Given the description of an element on the screen output the (x, y) to click on. 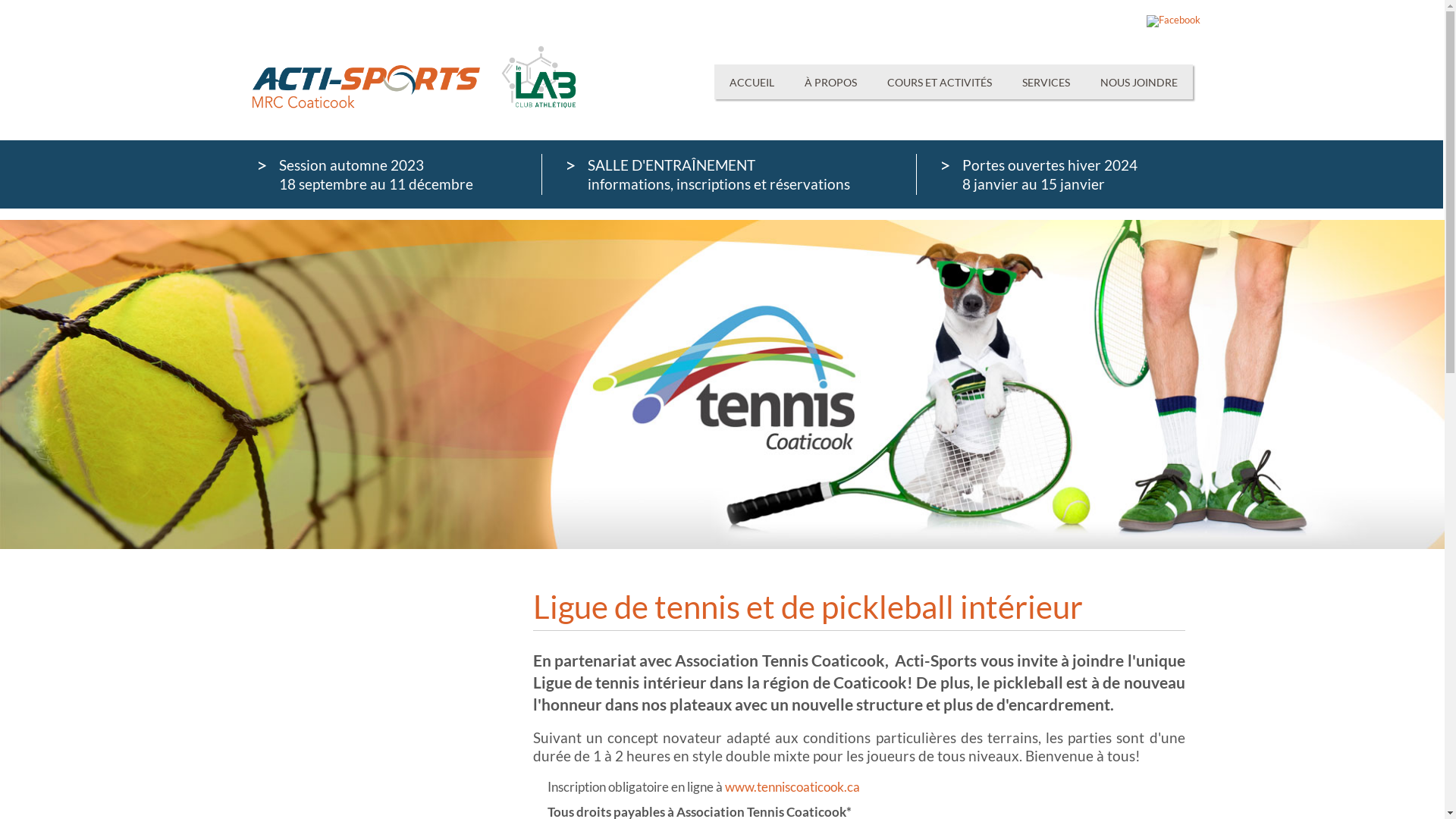
ACCUEIL Element type: text (751, 82)
Cours pour enfants et ados Element type: text (341, 705)
Inscription en ligne Element type: text (320, 807)
NOUS JOINDRE Element type: text (1138, 82)
Cours en piscine Element type: text (314, 725)
Aussi dans nos plateaux Element type: text (333, 766)
Portes ouvertes hiver 2024
8 janvier au 15 janvier Element type: text (1060, 174)
www.tenniscoaticook.ca Element type: text (791, 786)
SERVICES Element type: text (1046, 82)
